Given the description of an element on the screen output the (x, y) to click on. 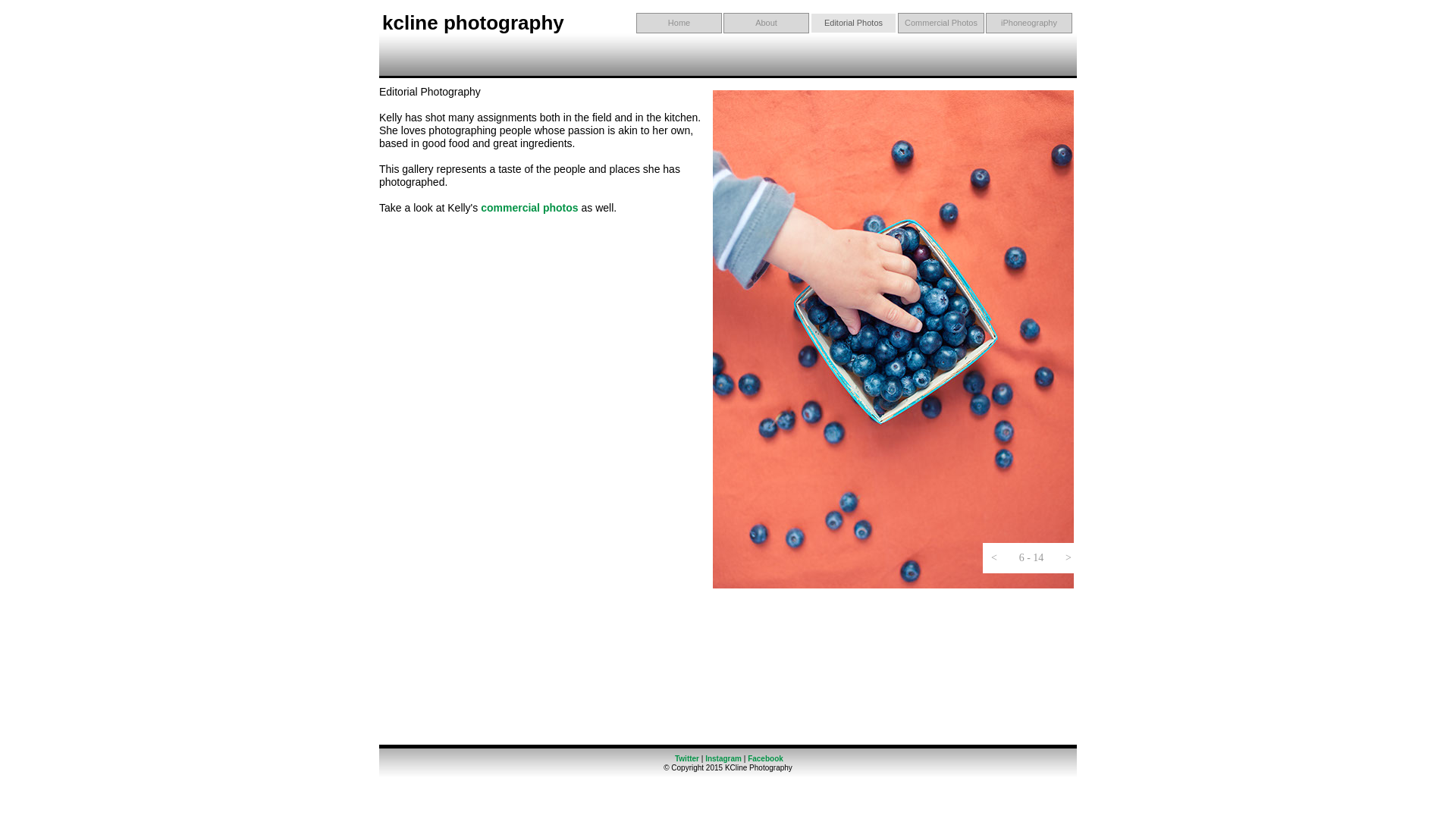
About (766, 23)
iPhoneography (1028, 23)
Twitter (688, 758)
commercial photos (529, 207)
Editorial Photos (853, 23)
Commercial Photos (941, 23)
Home (679, 23)
Instagram (724, 758)
Facebook (765, 758)
